Given the description of an element on the screen output the (x, y) to click on. 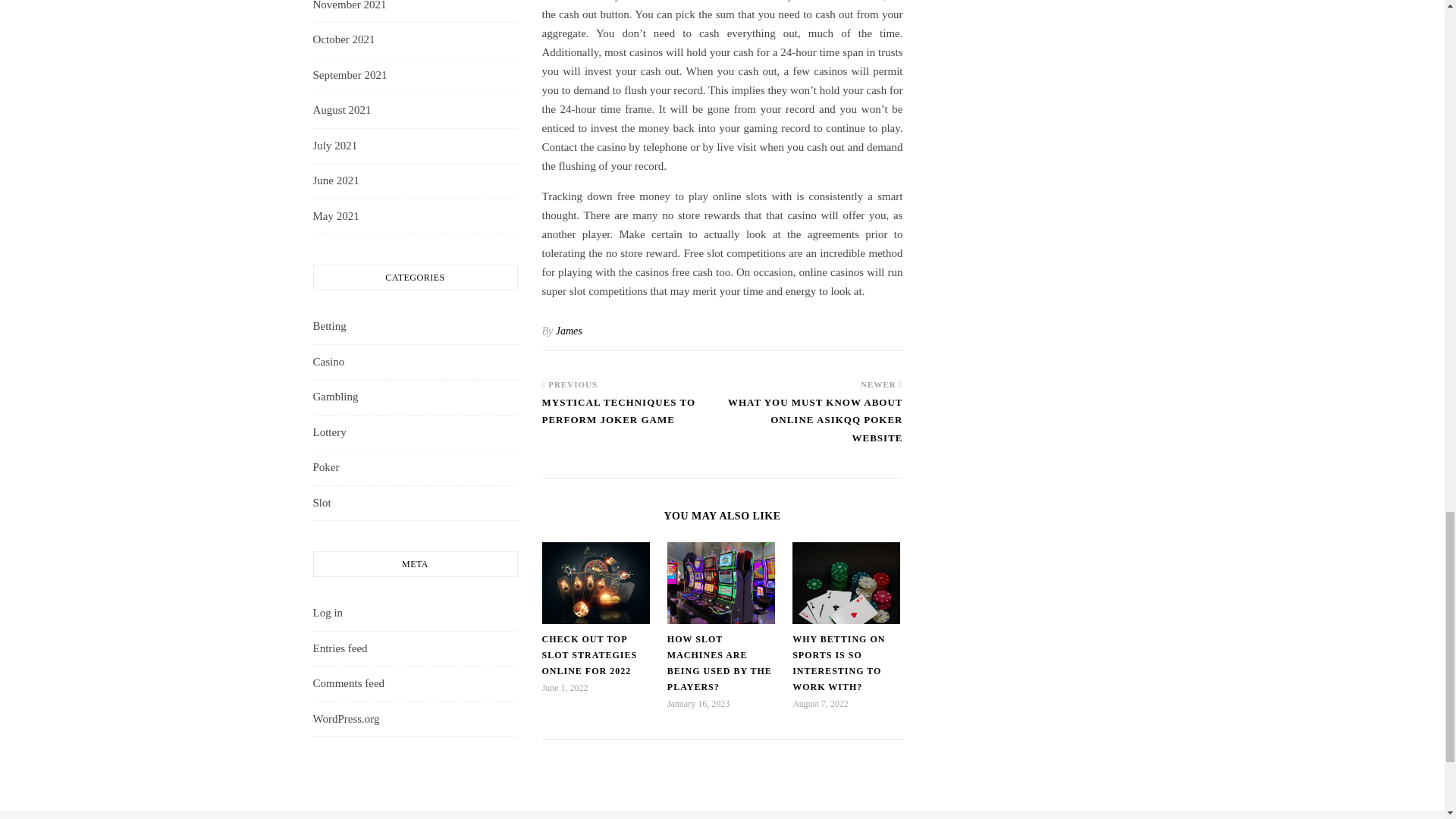
Posts by James (569, 330)
Mystical Techniques to perform Joker Game (631, 418)
What You Must Know About Online AsikQQ Poker Website (812, 427)
